Given the description of an element on the screen output the (x, y) to click on. 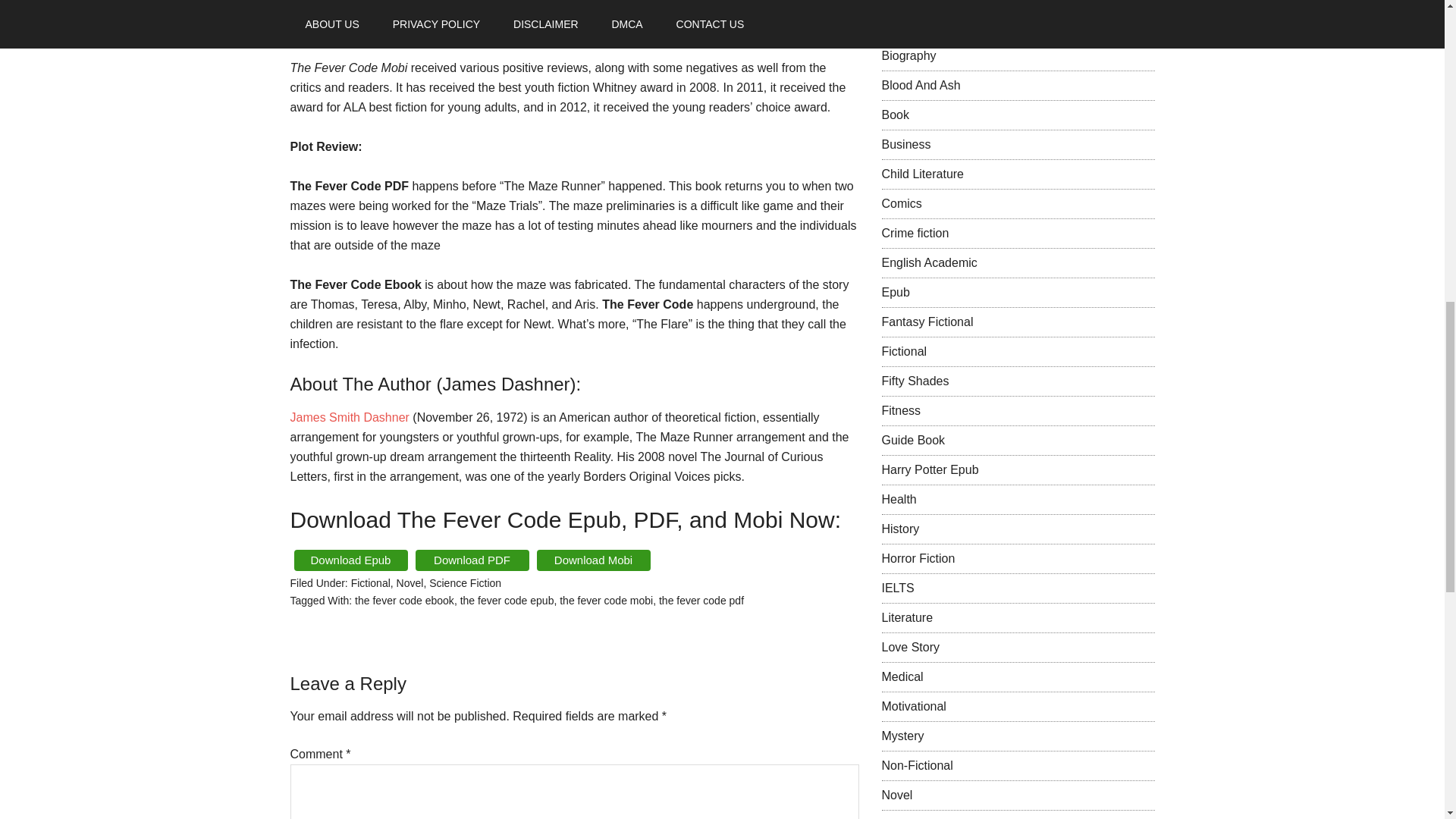
Download Mobi (593, 559)
the fever code mobi (605, 600)
Novel (409, 582)
James Smith Dashner (349, 417)
Science Fiction (464, 582)
the fever code ebook (404, 600)
Fictional (370, 582)
the fever code pdf (701, 600)
Download Epub (350, 559)
Download PDF (471, 559)
